Given the description of an element on the screen output the (x, y) to click on. 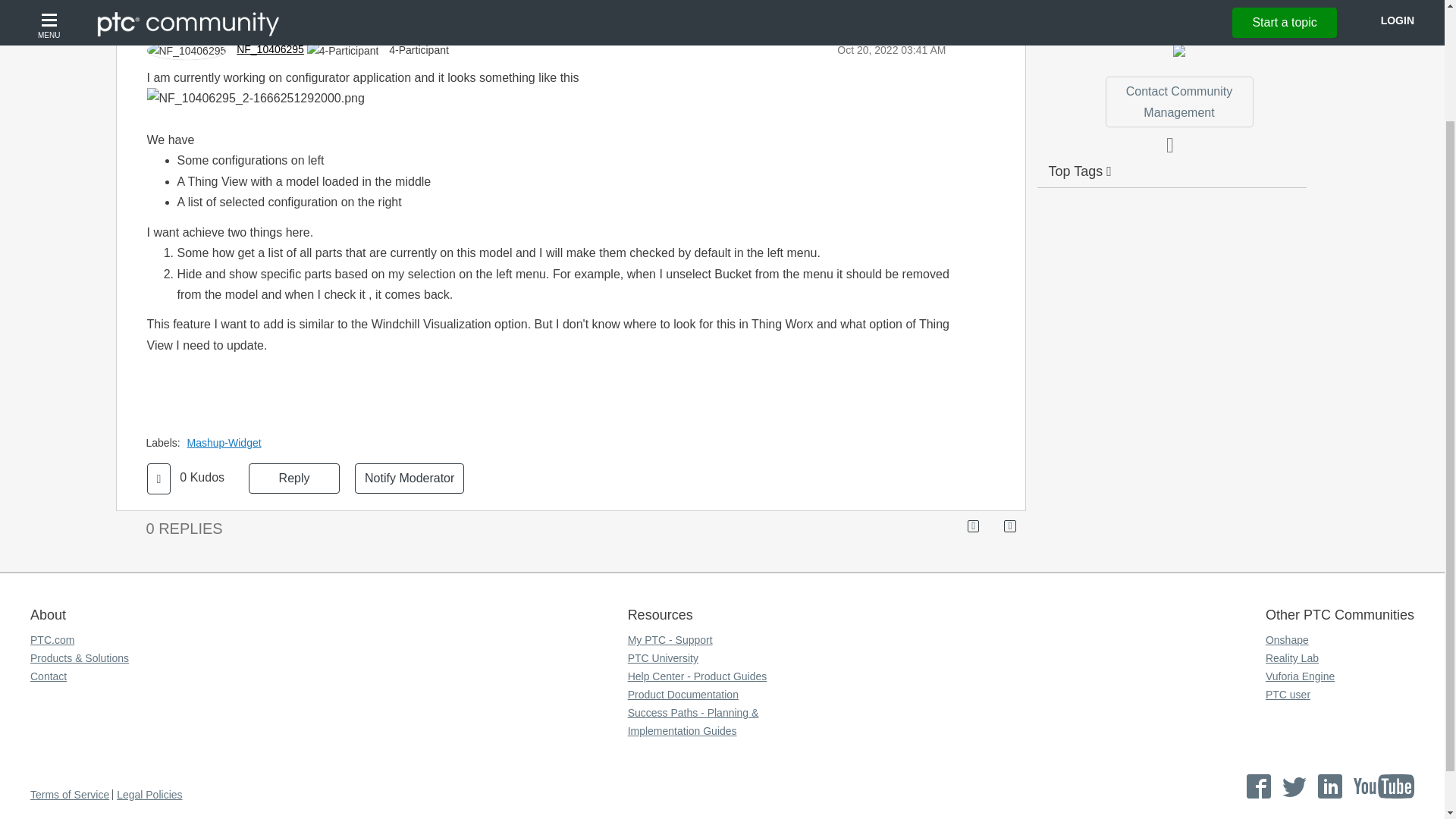
Notify Moderator (409, 478)
Mashup-Widget (228, 442)
Reply (293, 478)
Contact Community Management (1178, 101)
